Given the description of an element on the screen output the (x, y) to click on. 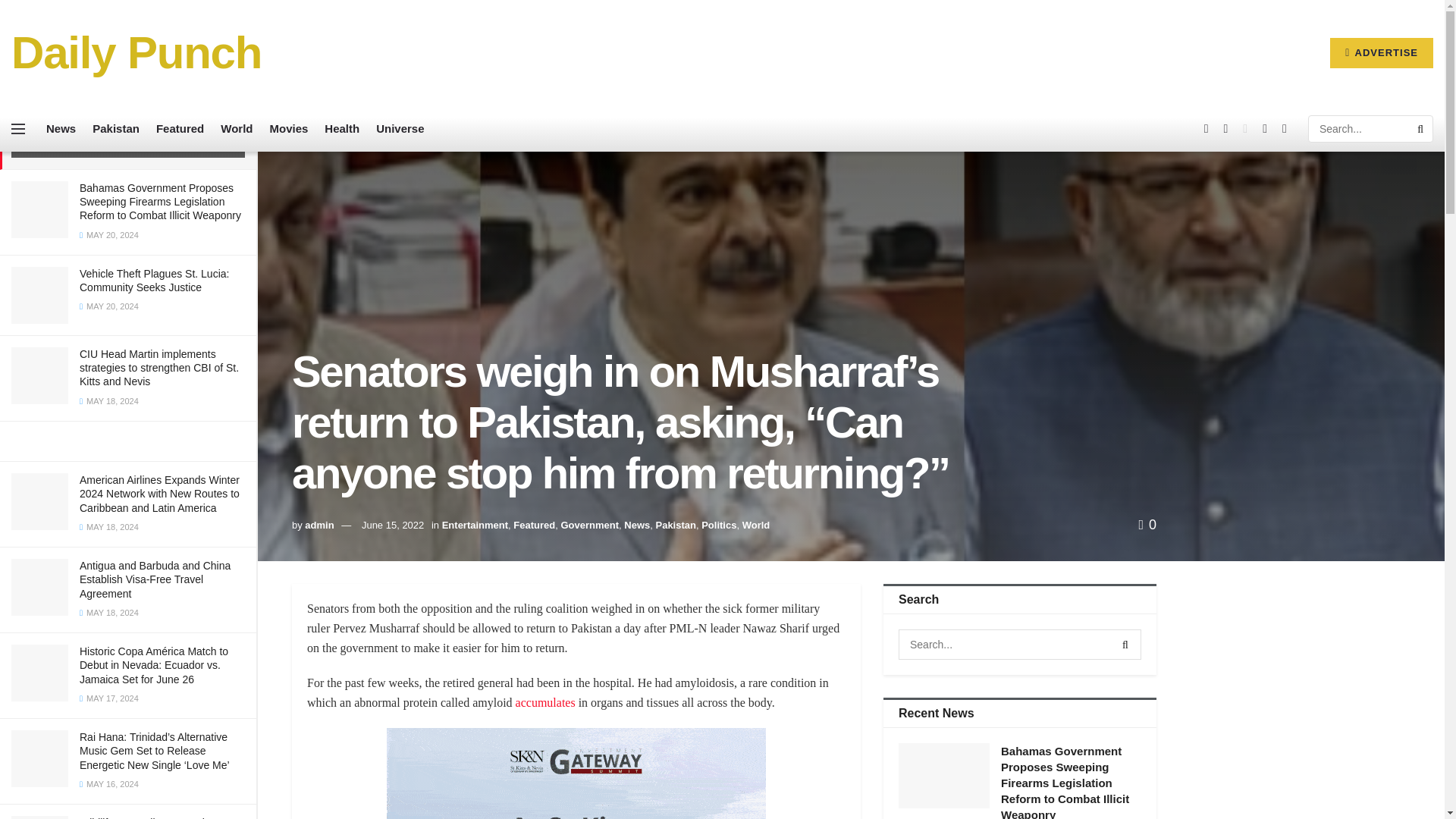
Pakistan (116, 128)
Featured (179, 128)
Daily Punch (136, 53)
Vehicle Theft Plagues St. Lucia: Community Seeks Justice (154, 280)
ADVERTISE (1381, 52)
